Given the description of an element on the screen output the (x, y) to click on. 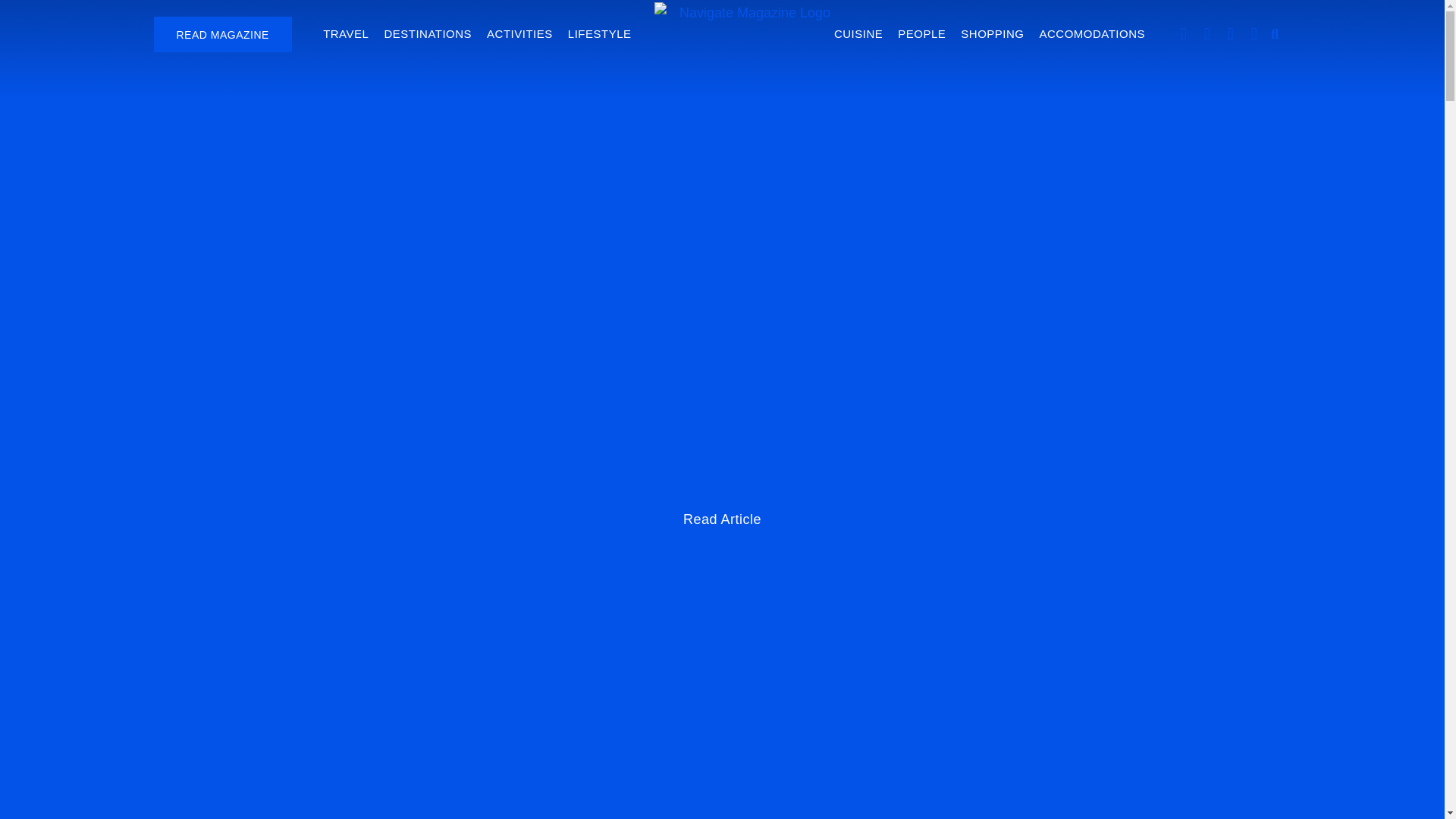
READ MAGAZINE (221, 34)
LIFESTYLE (599, 33)
SHOPPING (991, 33)
PEOPLE (921, 33)
TRAVEL (345, 33)
ACTIVITIES (519, 33)
ACCOMODATIONS (1091, 33)
CUISINE (858, 33)
DESTINATIONS (427, 33)
